Given the description of an element on the screen output the (x, y) to click on. 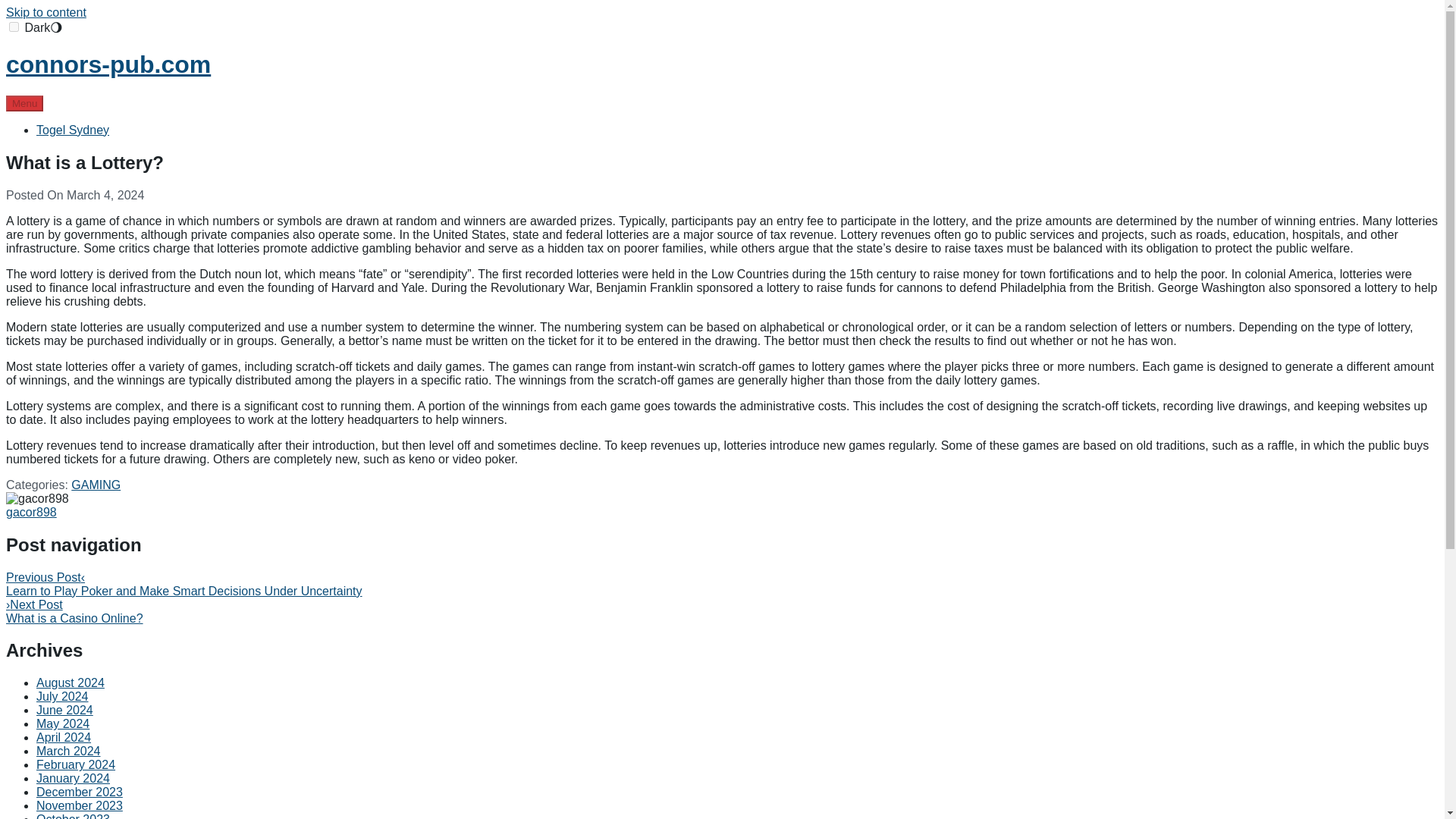
connors-pub.com (108, 63)
January 2024 (73, 778)
April 2024 (63, 737)
GAMING (95, 484)
May 2024 (62, 723)
Skip to content (45, 11)
gacor898 (30, 512)
June 2024 (64, 709)
August 2024 (70, 682)
March 2024 (68, 750)
